Given the description of an element on the screen output the (x, y) to click on. 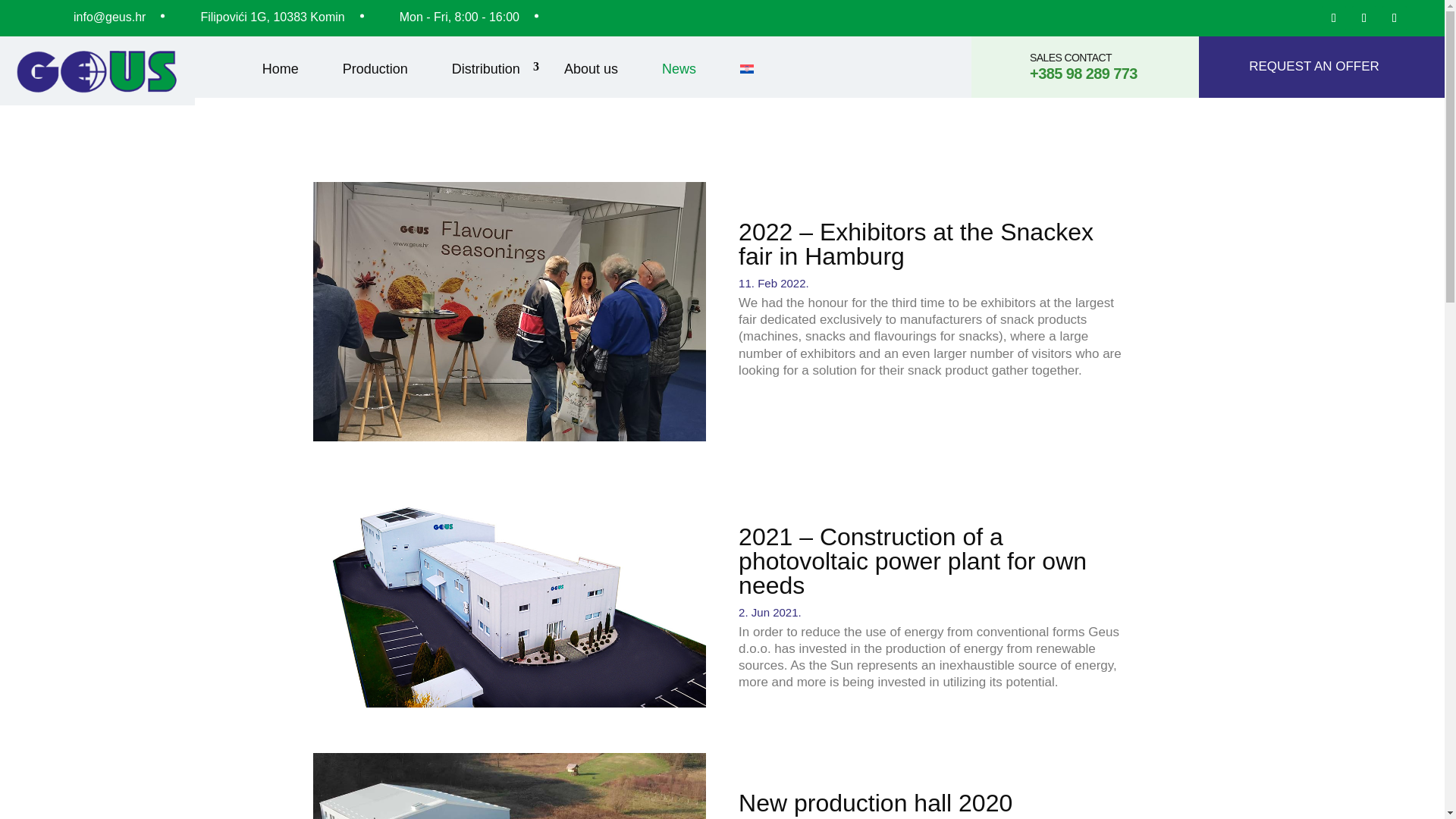
Production (374, 68)
Follow on Facebook (1333, 17)
About us (590, 68)
Follow on Twitter (1363, 17)
REQUEST AN OFFER (1321, 66)
Distribution (485, 68)
geus-logo-ver-3 (97, 70)
Follow on Instagram (1393, 17)
